Given the description of an element on the screen output the (x, y) to click on. 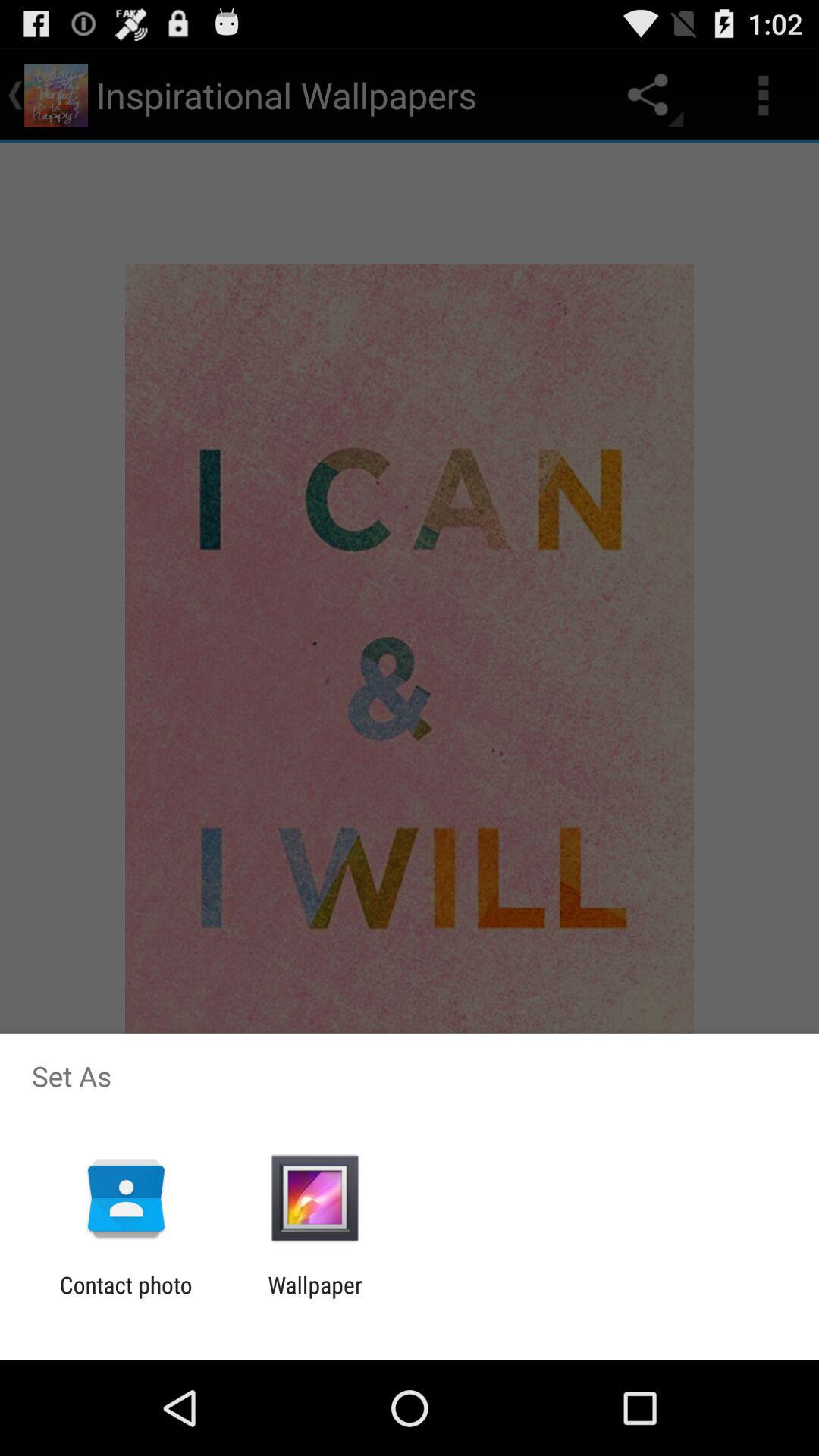
swipe until contact photo (125, 1298)
